Given the description of an element on the screen output the (x, y) to click on. 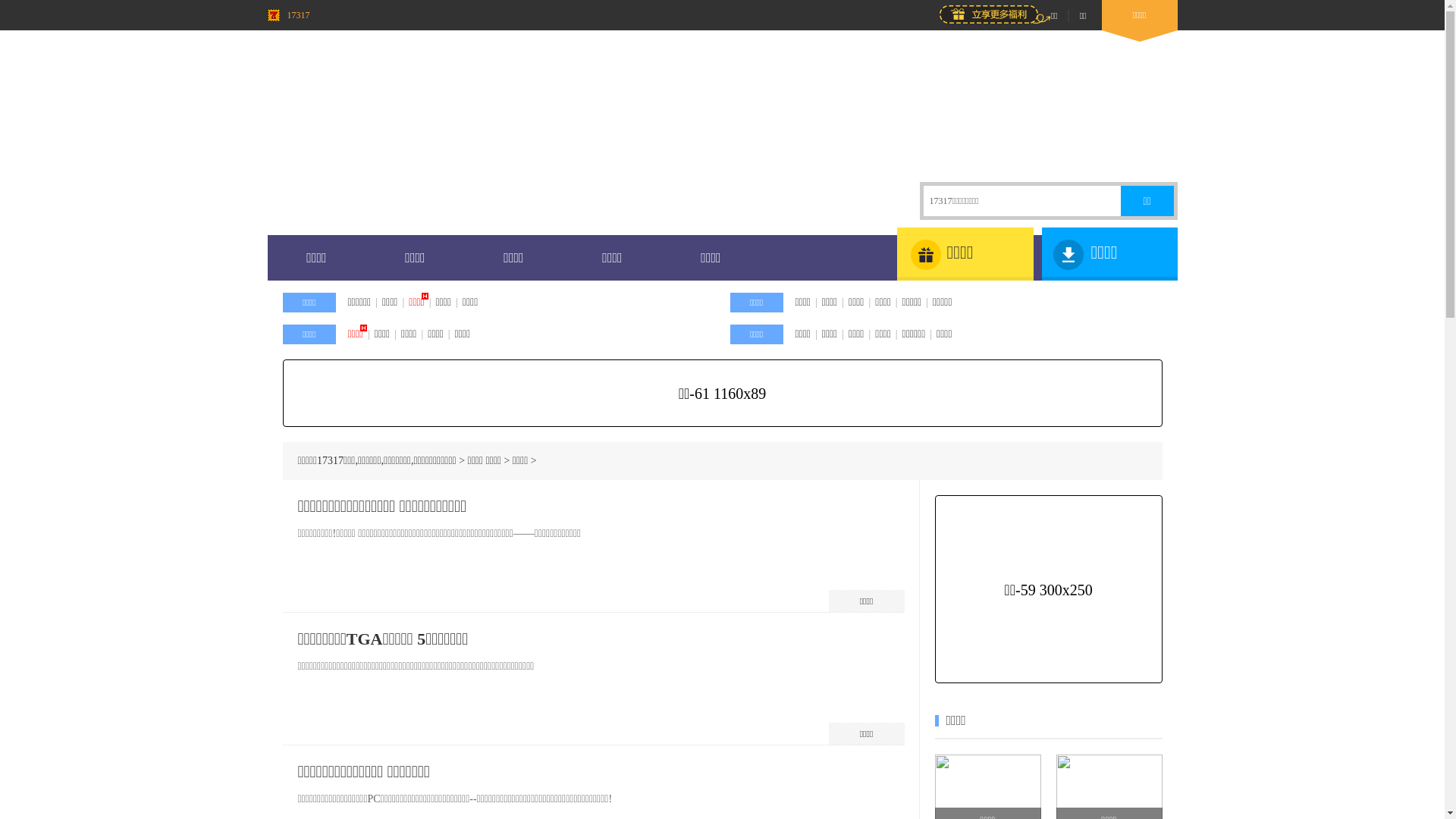
17317 Element type: text (287, 14)
